Given the description of an element on the screen output the (x, y) to click on. 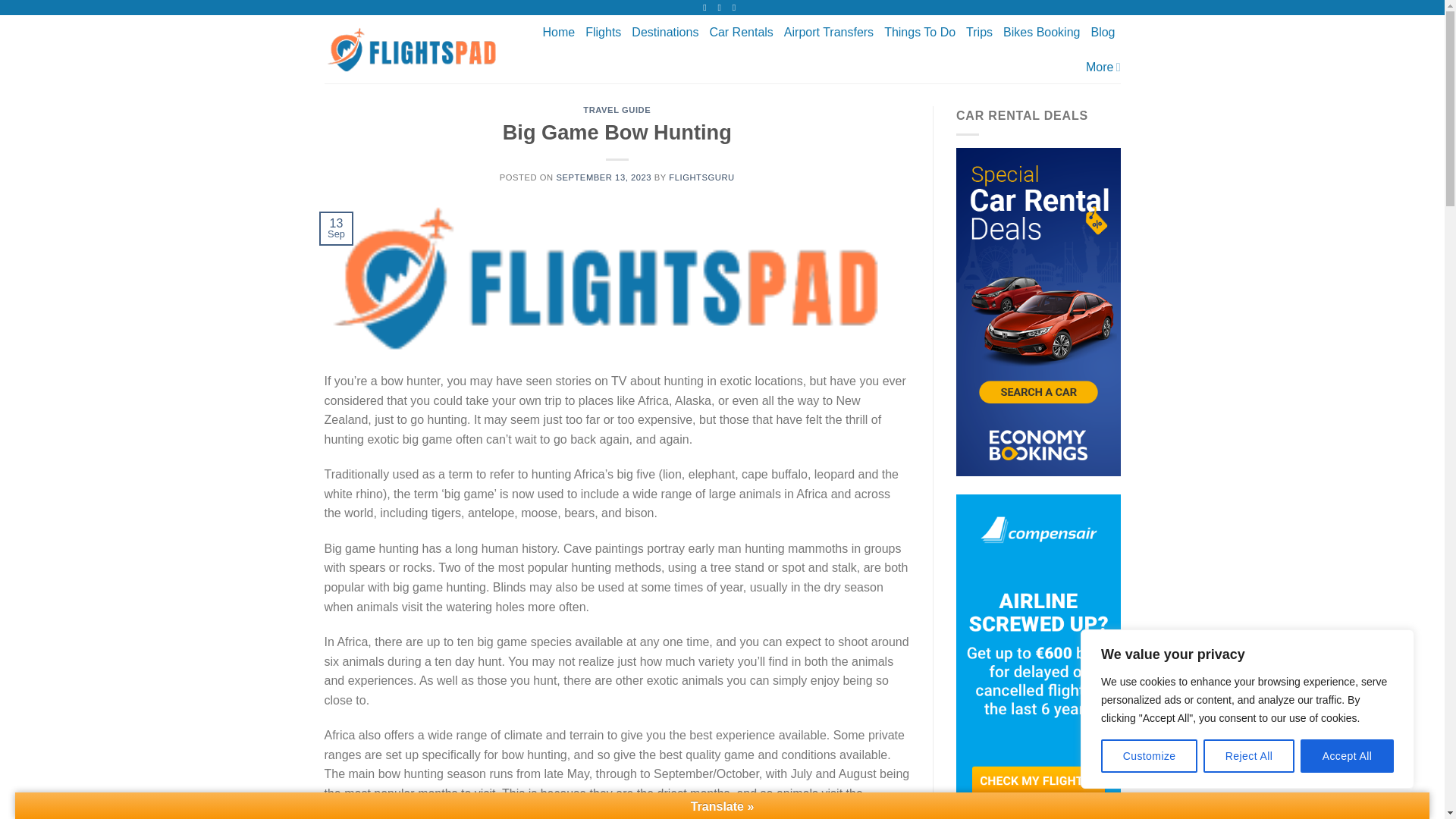
Customize (1148, 756)
Bikes Booking (1041, 32)
Flights (603, 32)
Accept All (1346, 756)
Destinations (664, 32)
Follow on Instagram (721, 7)
Blog (1102, 32)
Flightspad (415, 48)
Follow on Twitter (736, 7)
Follow on Facebook (707, 7)
More (1102, 67)
Home (559, 32)
Reject All (1249, 756)
Car Rentals (741, 32)
Trips (979, 32)
